Given the description of an element on the screen output the (x, y) to click on. 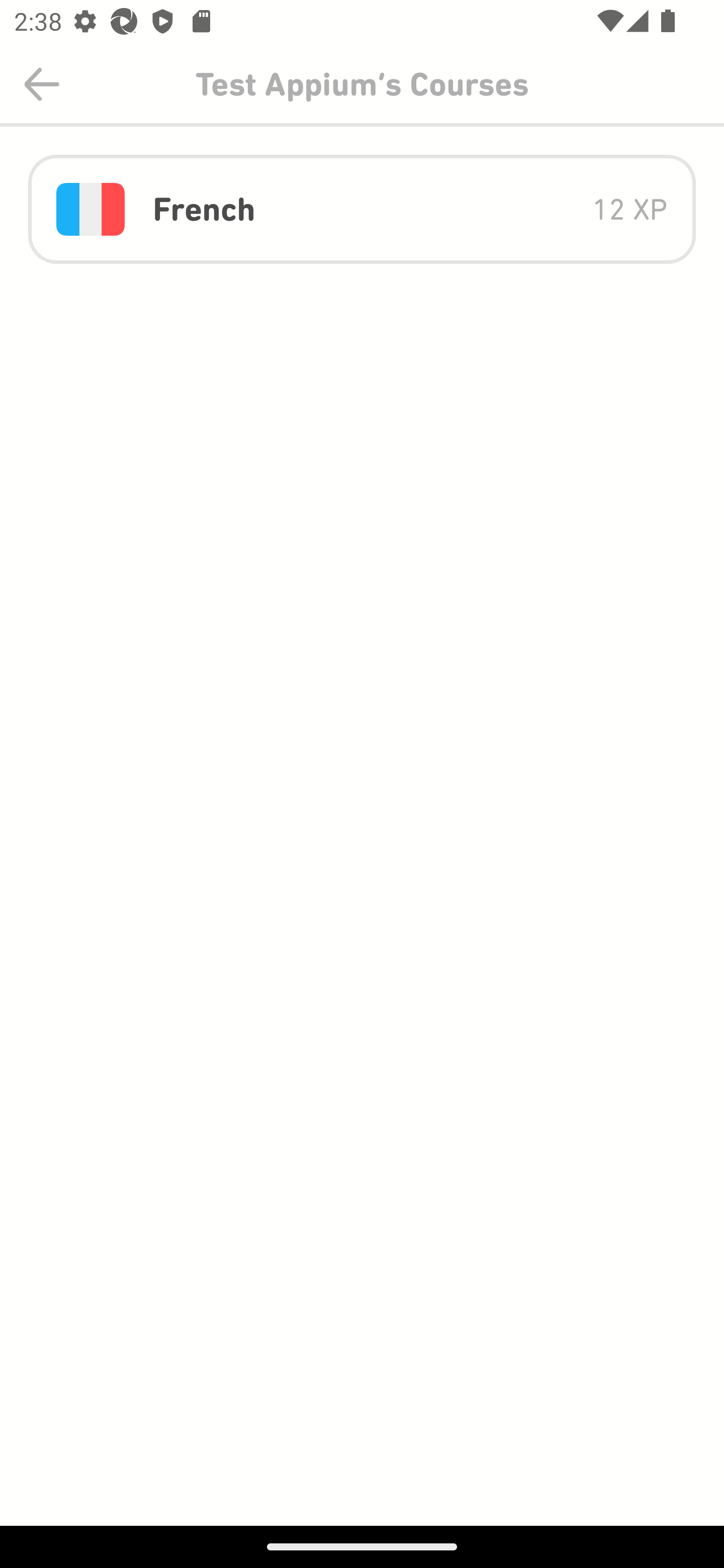
Back (41, 84)
